Given the description of an element on the screen output the (x, y) to click on. 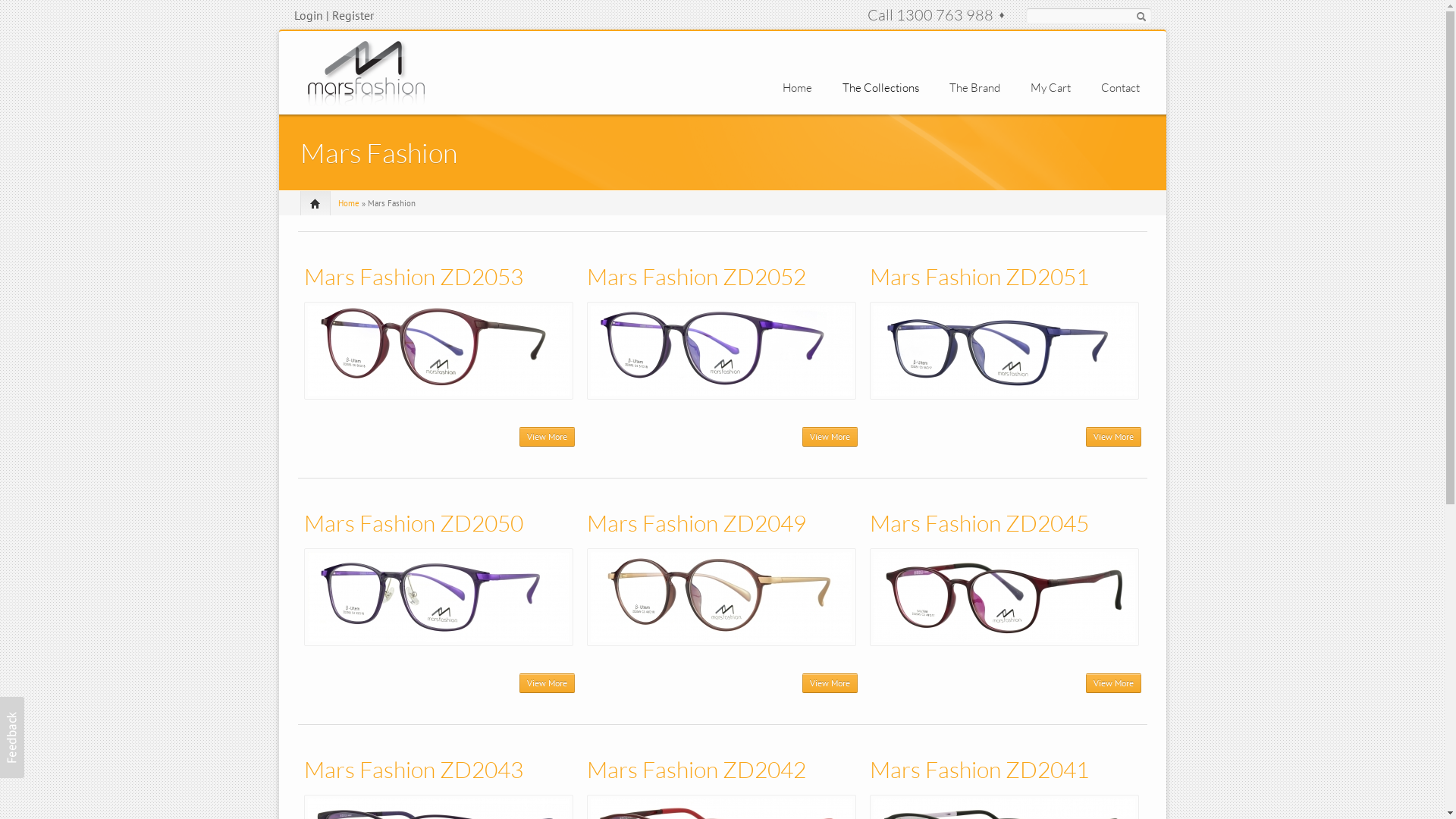
My Cart Element type: text (1049, 87)
Mars Fashion ZD2050 Element type: text (412, 522)
Mars Fashion ZD2052 Element type: text (696, 276)
The Brand Element type: text (974, 87)
Mars Fashion ZD2053 Element type: text (412, 276)
Enter the terms you wish to search for. Element type: hover (1088, 15)
Mars Fashion ZD2042 Element type: text (696, 769)
Home Element type: text (348, 202)
Mars Fashion ZD2041 Element type: text (978, 769)
View More
about Mars Fashion ZD2053 Element type: text (546, 436)
ZD2052 Element type: hover (721, 350)
ZD2049 Element type: hover (721, 597)
View More
about Mars Fashion ZD2050 Element type: text (546, 683)
Home Element type: text (797, 87)
Mars Fashion ZD2051 Element type: text (978, 276)
View More
about Mars Fashion ZD2052 Element type: text (829, 436)
Home Element type: hover (365, 71)
View More
about Mars Fashion ZD2049 Element type: text (829, 683)
ZD2053 Element type: hover (438, 350)
ZD2051 Element type: hover (1004, 350)
View More
about Mars Fashion ZD2045 Element type: text (1113, 683)
Contact Element type: text (1120, 87)
Mars Fashion ZD2043 Element type: text (412, 769)
Register Element type: text (352, 14)
ZD2050 Element type: hover (438, 597)
View More
about Mars Fashion ZD2051 Element type: text (1113, 436)
Mars Fashion ZD2045 Element type: text (978, 522)
zd2045 Element type: hover (1004, 597)
Login Element type: text (308, 14)
Mars Fashion ZD2049 Element type: text (696, 522)
